Given the description of an element on the screen output the (x, y) to click on. 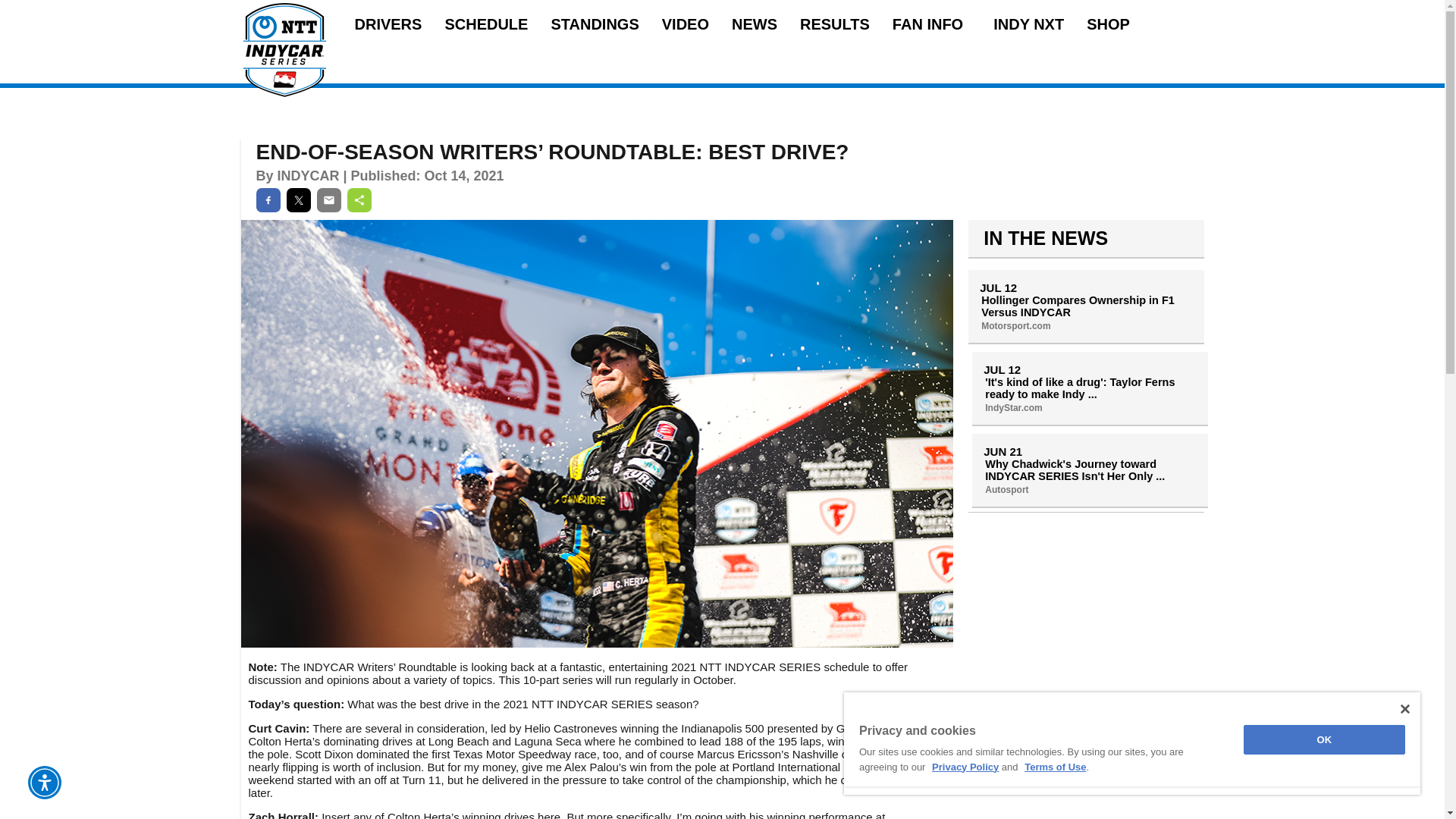
SHOP (1107, 24)
SCHEDULE (485, 24)
STANDINGS (594, 24)
INDY NXT (1028, 24)
FAN INFO (931, 24)
DRIVERS (388, 24)
3rd party ad content (1085, 783)
VIDEO (685, 24)
Accessibility Menu (44, 782)
NEWS (754, 24)
RESULTS (834, 24)
